Given the description of an element on the screen output the (x, y) to click on. 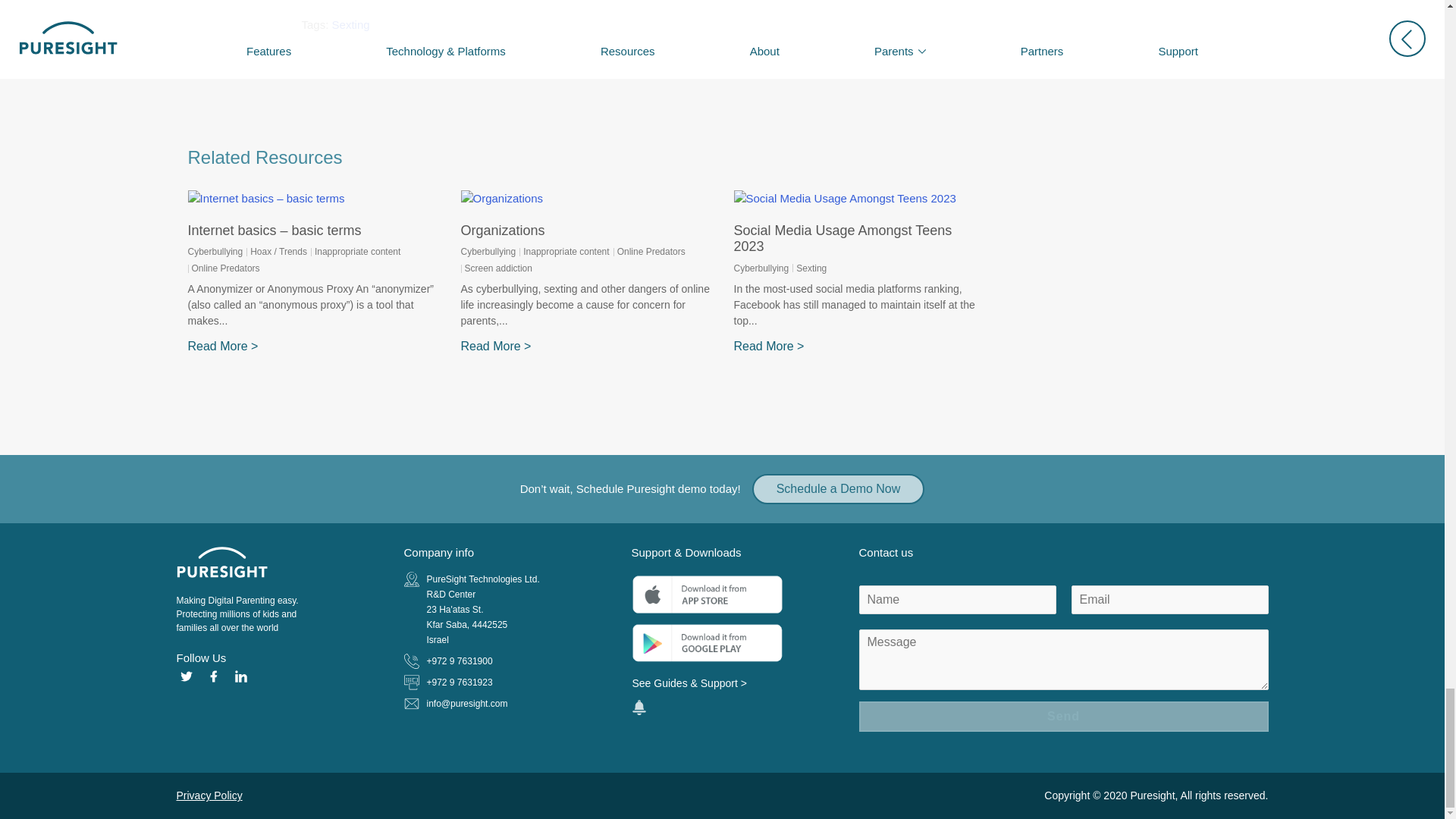
iPhone-download-link (706, 594)
Organizations (502, 230)
Remote assistant (638, 707)
Sexting (350, 24)
Android-download-link (706, 643)
Social Media Usage Amongst Teens 2023 (842, 238)
